Given the description of an element on the screen output the (x, y) to click on. 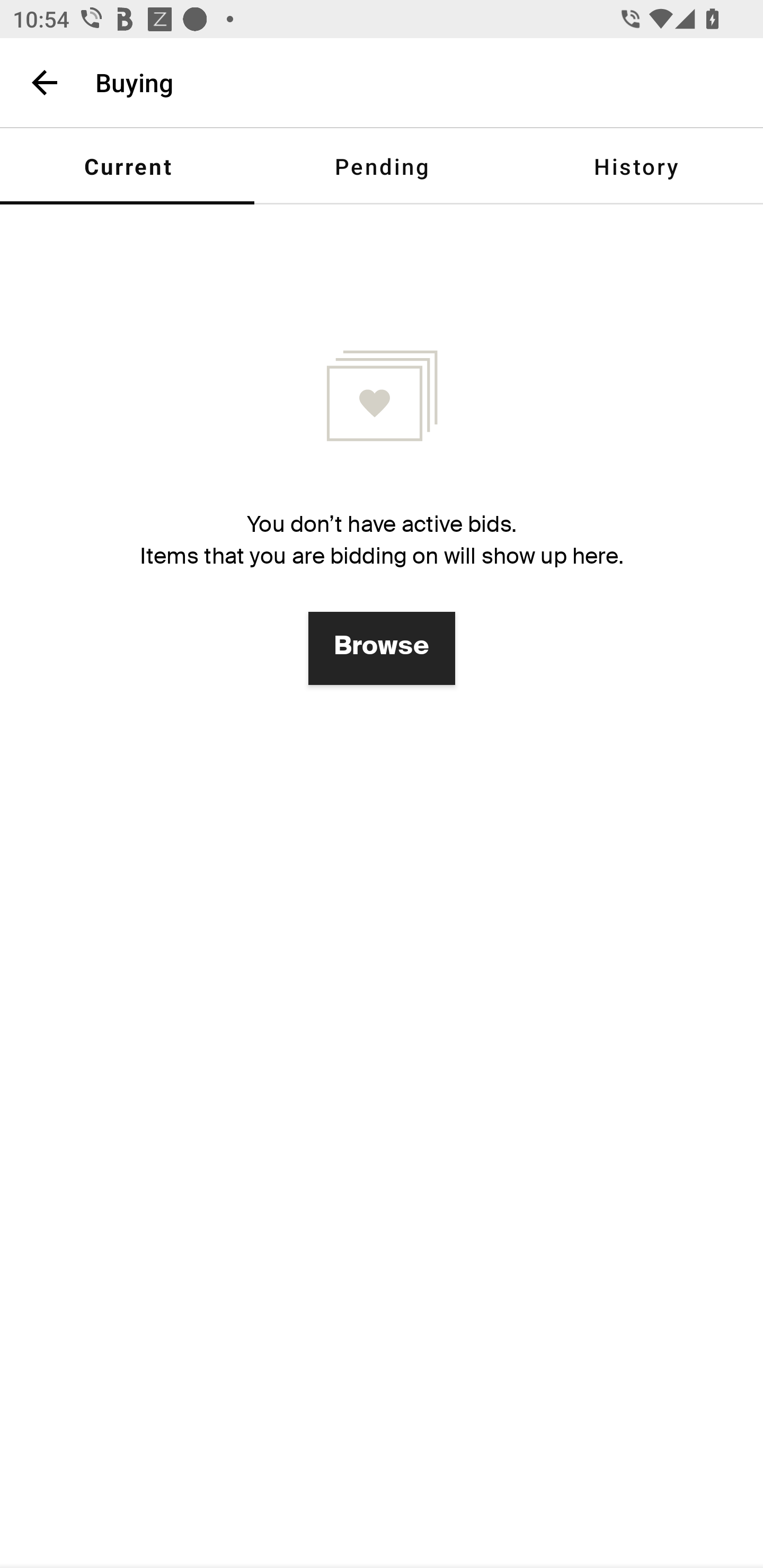
Navigate up (44, 82)
Pending (381, 165)
History (635, 165)
Browse (381, 647)
